Given the description of an element on the screen output the (x, y) to click on. 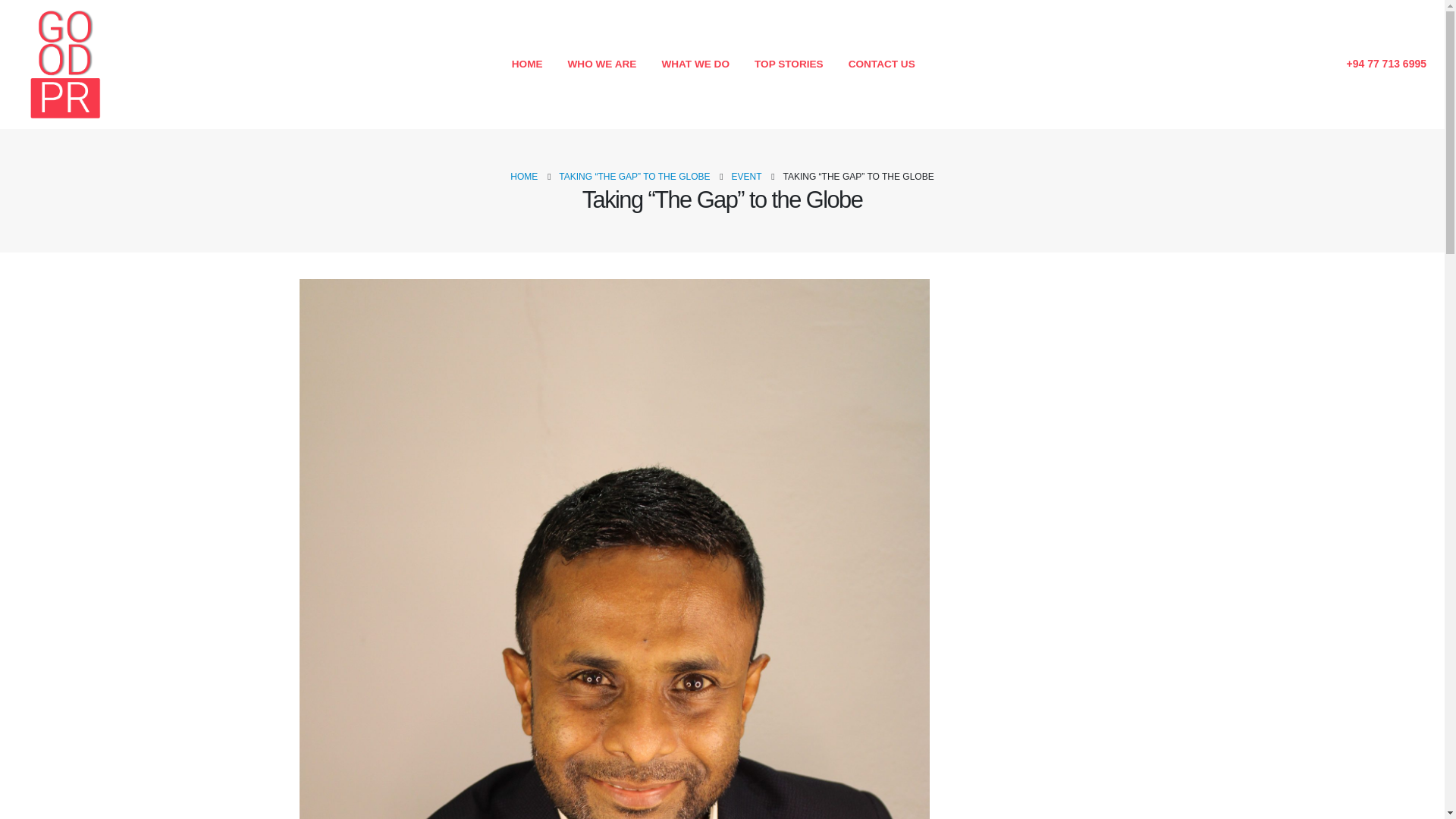
CONTACT US (881, 64)
WHO WE ARE (602, 64)
WHAT WE DO (695, 64)
HOME (524, 176)
HOME (526, 64)
TOP STORIES (788, 64)
Go to Home Page (524, 176)
EVENT (745, 176)
